Given the description of an element on the screen output the (x, y) to click on. 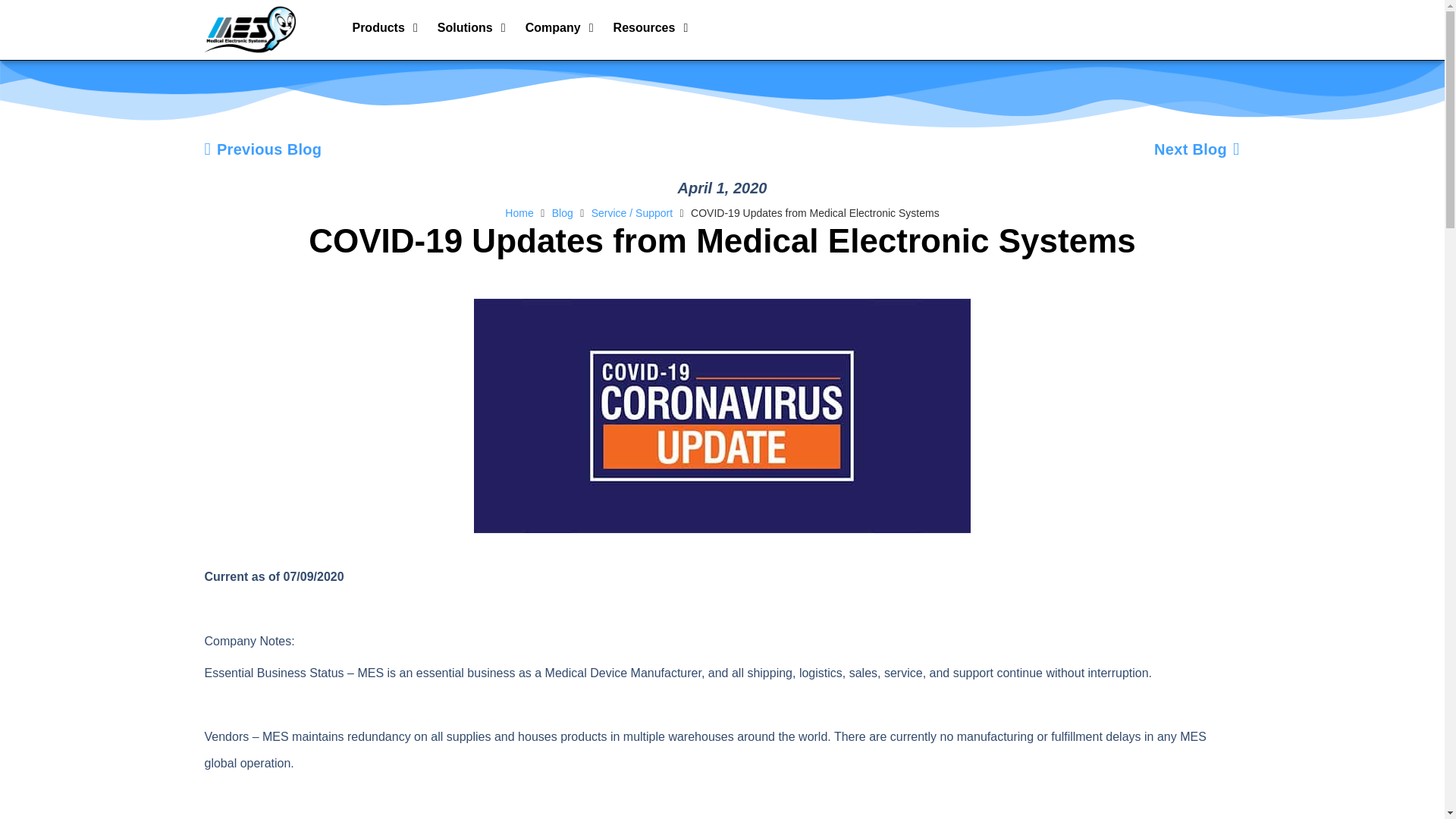
Solutions (465, 27)
Blog (562, 212)
Products (378, 27)
Home (518, 212)
Company (552, 27)
